Given the description of an element on the screen output the (x, y) to click on. 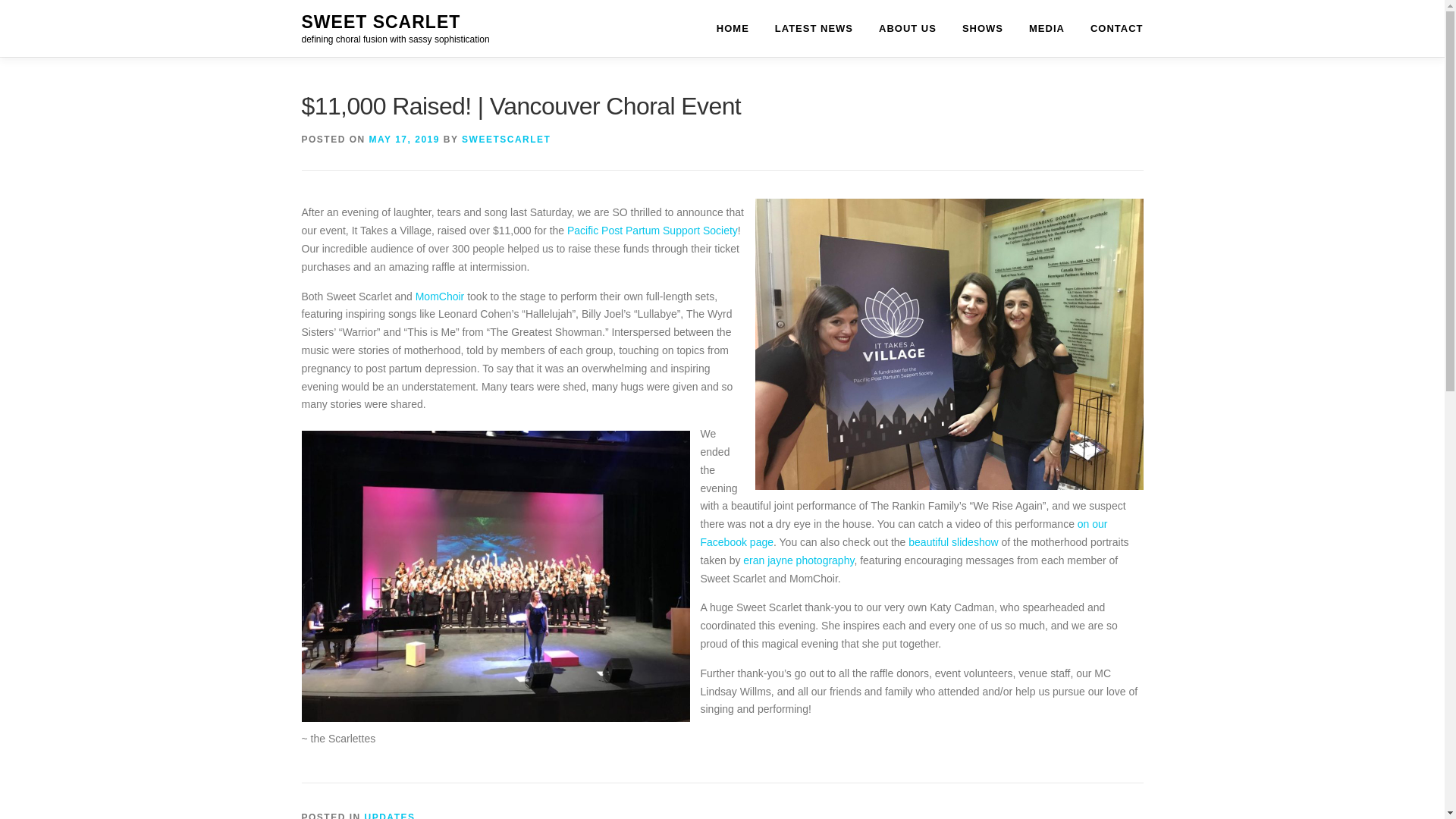
LATEST NEWS (813, 28)
MomChoir (439, 296)
CONTACT (1109, 28)
UPDATES (389, 815)
ABOUT US (907, 28)
Pacific Post Partum Support Society (652, 230)
beautiful slideshow (952, 541)
SWEET SCARLET (381, 21)
eran jayne photography (797, 560)
HOME (732, 28)
SWEETSCARLET (505, 139)
on our Facebook page (904, 532)
MAY 17, 2019 (404, 139)
SHOWS (982, 28)
MEDIA (1046, 28)
